Given the description of an element on the screen output the (x, y) to click on. 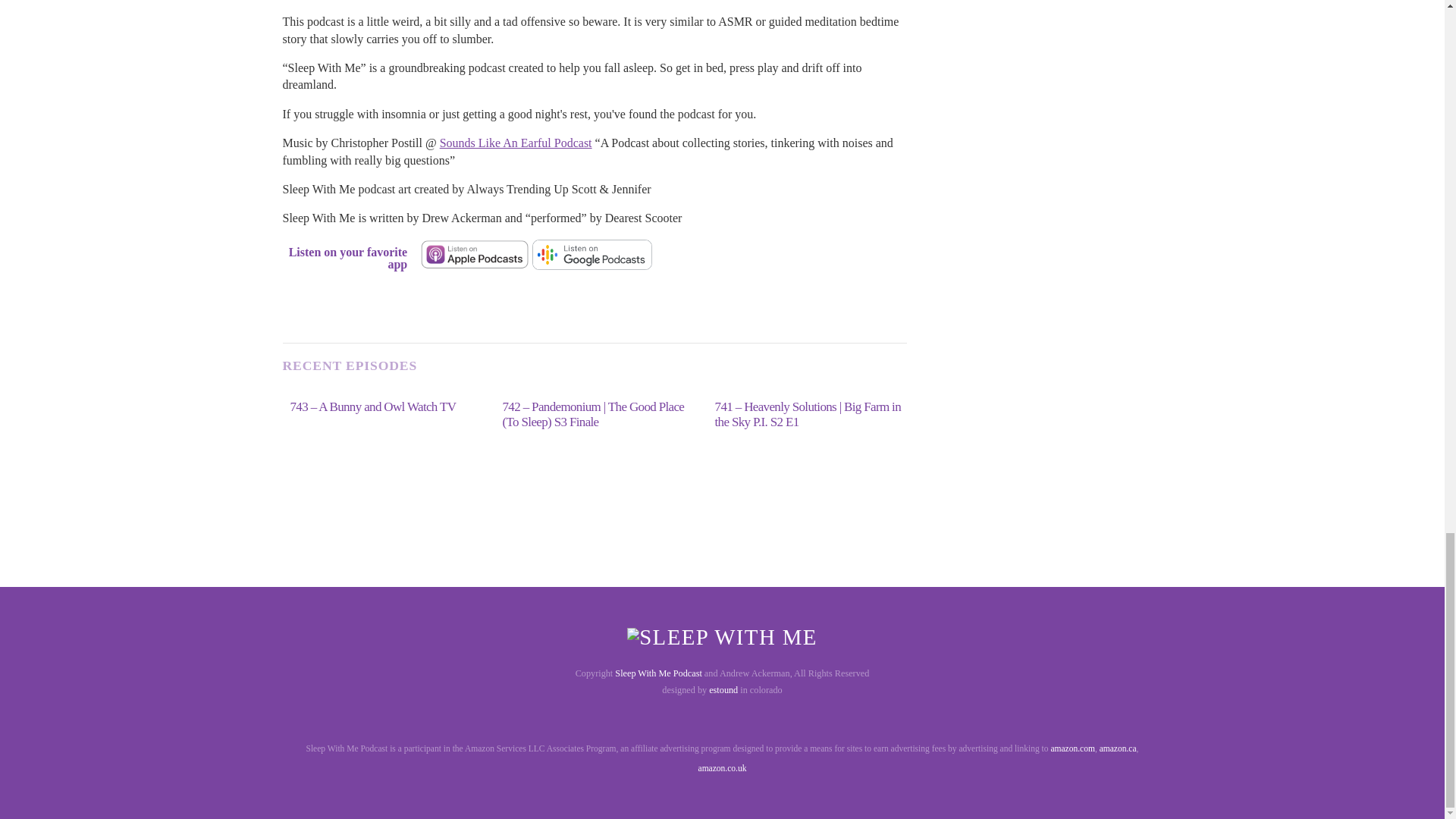
Sleep With Me (721, 637)
Sleep With Me (721, 636)
Sounds Like An Earful Podcast (515, 142)
